Given the description of an element on the screen output the (x, y) to click on. 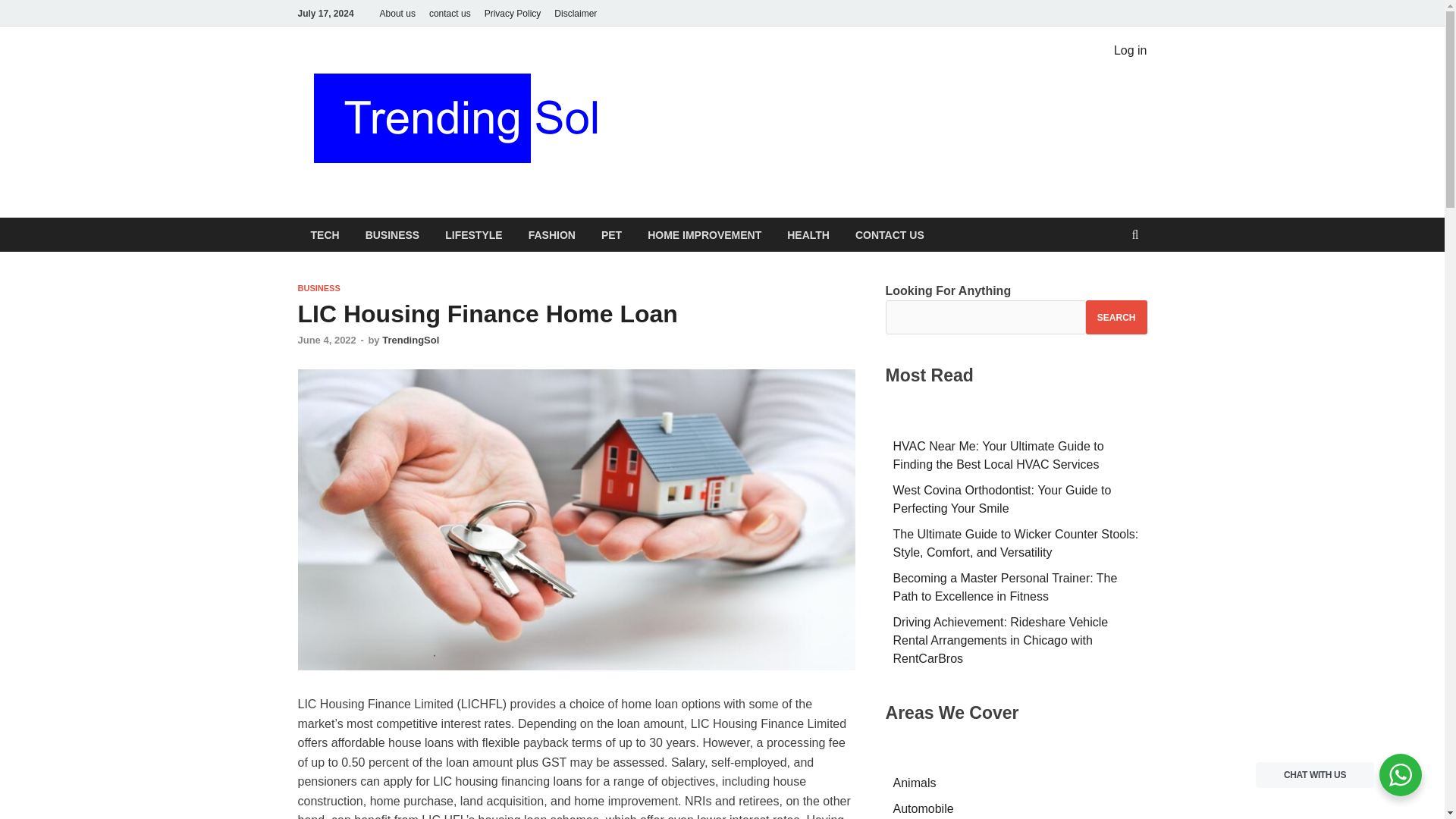
contact us (449, 13)
HOME IMPROVEMENT (704, 234)
June 4, 2022 (326, 339)
LIFESTYLE (473, 234)
FASHION (551, 234)
TrendingSol (410, 339)
PET (611, 234)
Trending Sol (709, 78)
BUSINESS (318, 287)
HEALTH (808, 234)
Log in (1130, 50)
About us (397, 13)
Privacy Policy (512, 13)
BUSINESS (392, 234)
TECH (324, 234)
